Given the description of an element on the screen output the (x, y) to click on. 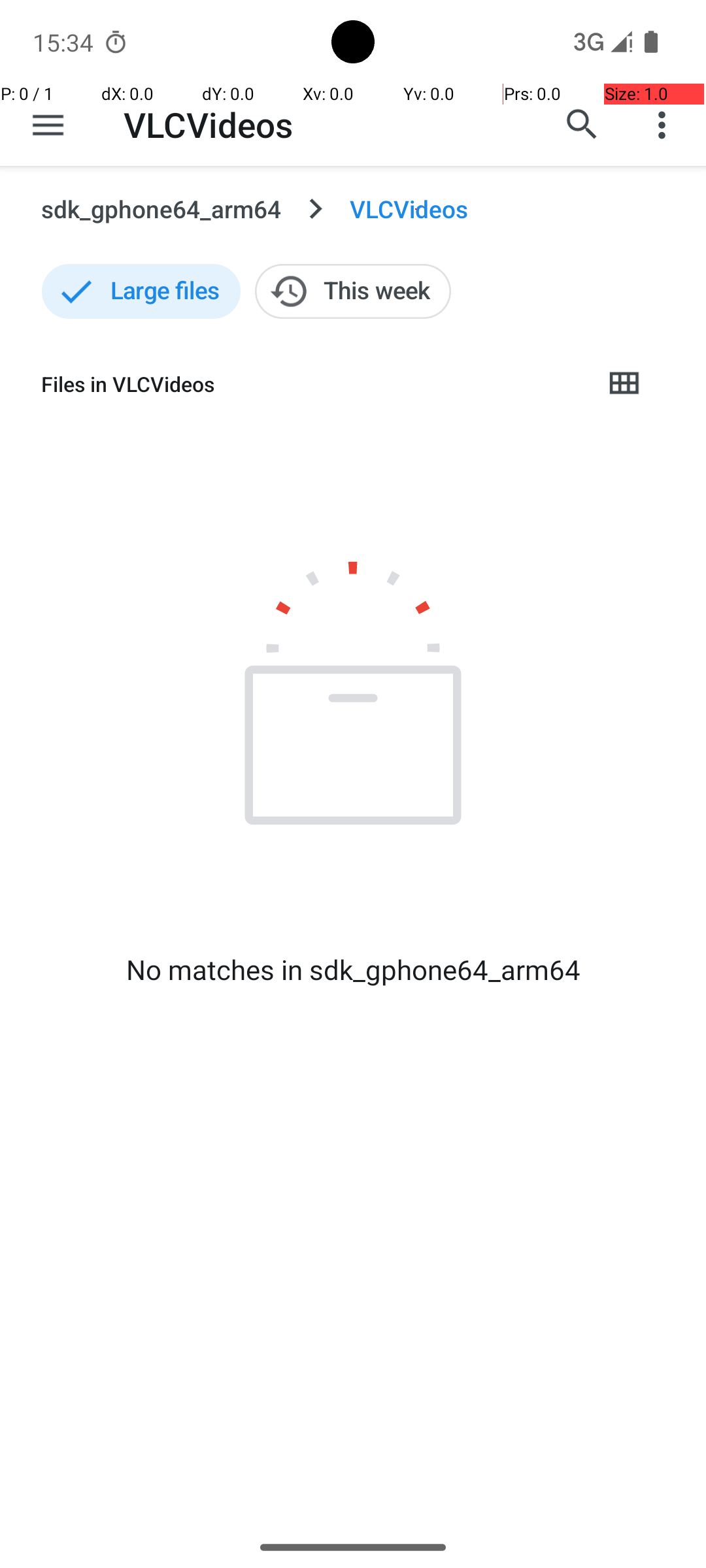
Files in VLCVideos Element type: android.widget.TextView (311, 383)
No matches in sdk_gphone64_arm64 Element type: android.widget.TextView (353, 968)
